Given the description of an element on the screen output the (x, y) to click on. 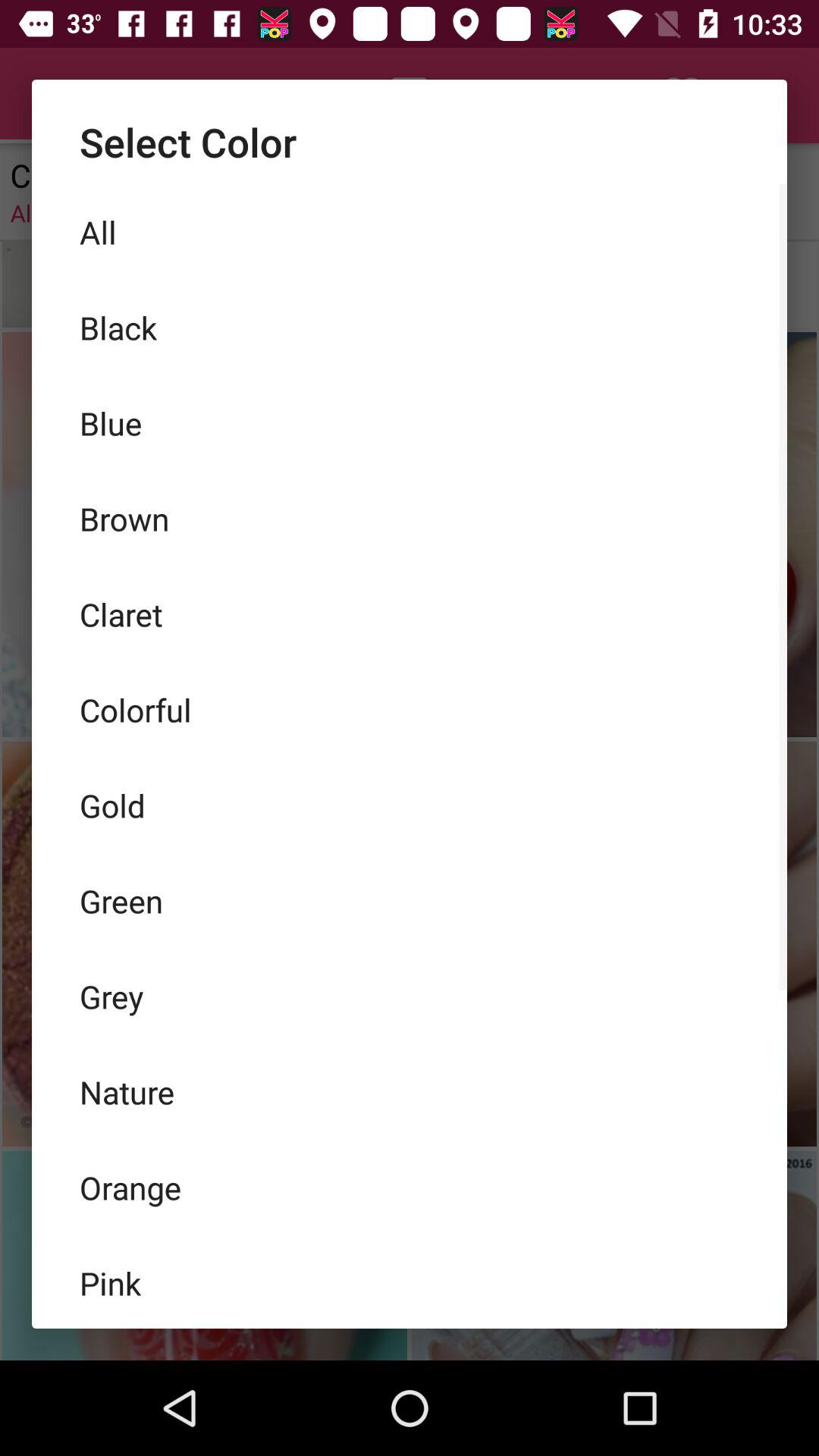
click the item below green (409, 996)
